Given the description of an element on the screen output the (x, y) to click on. 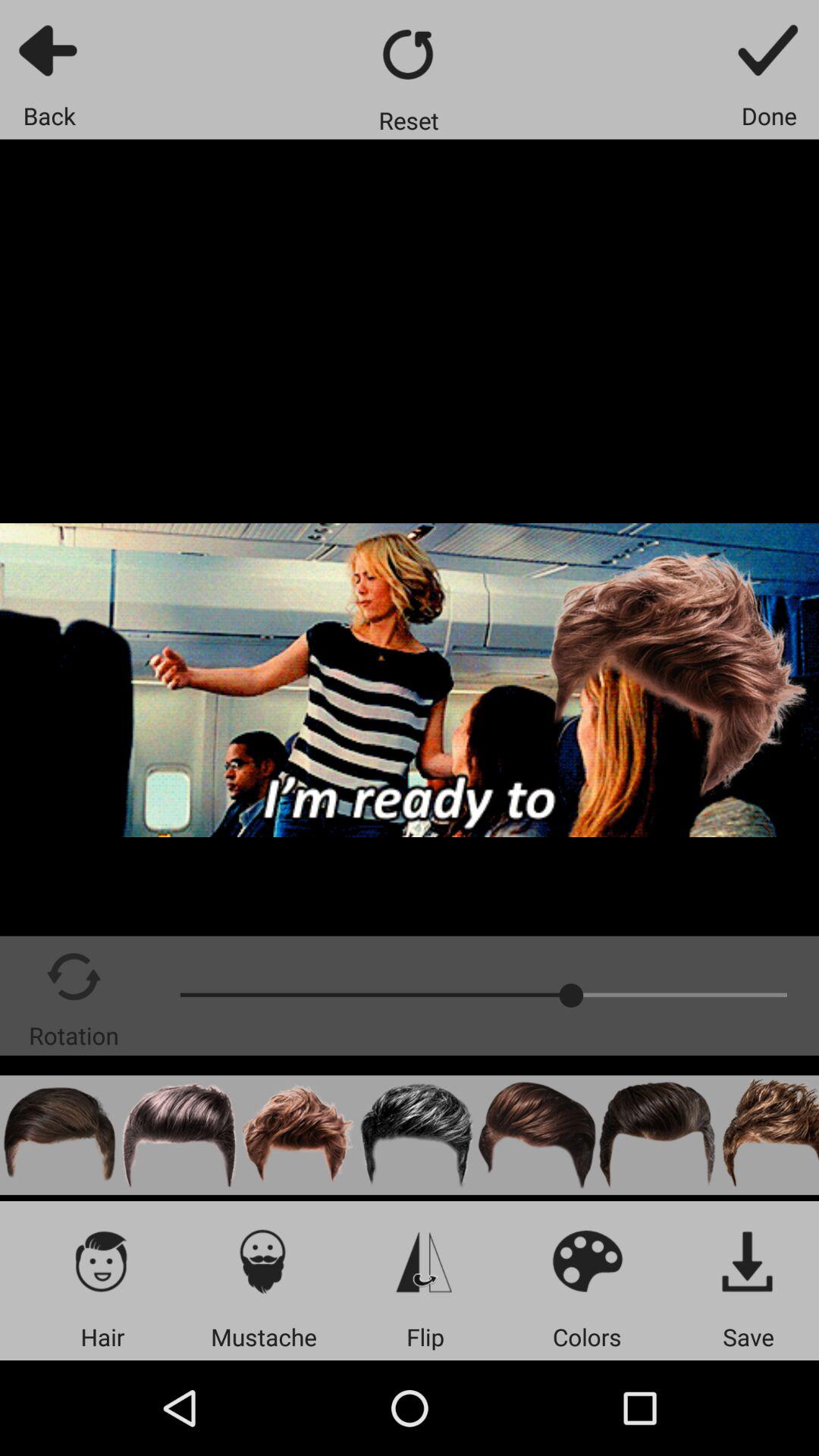
done with task (769, 49)
